Given the description of an element on the screen output the (x, y) to click on. 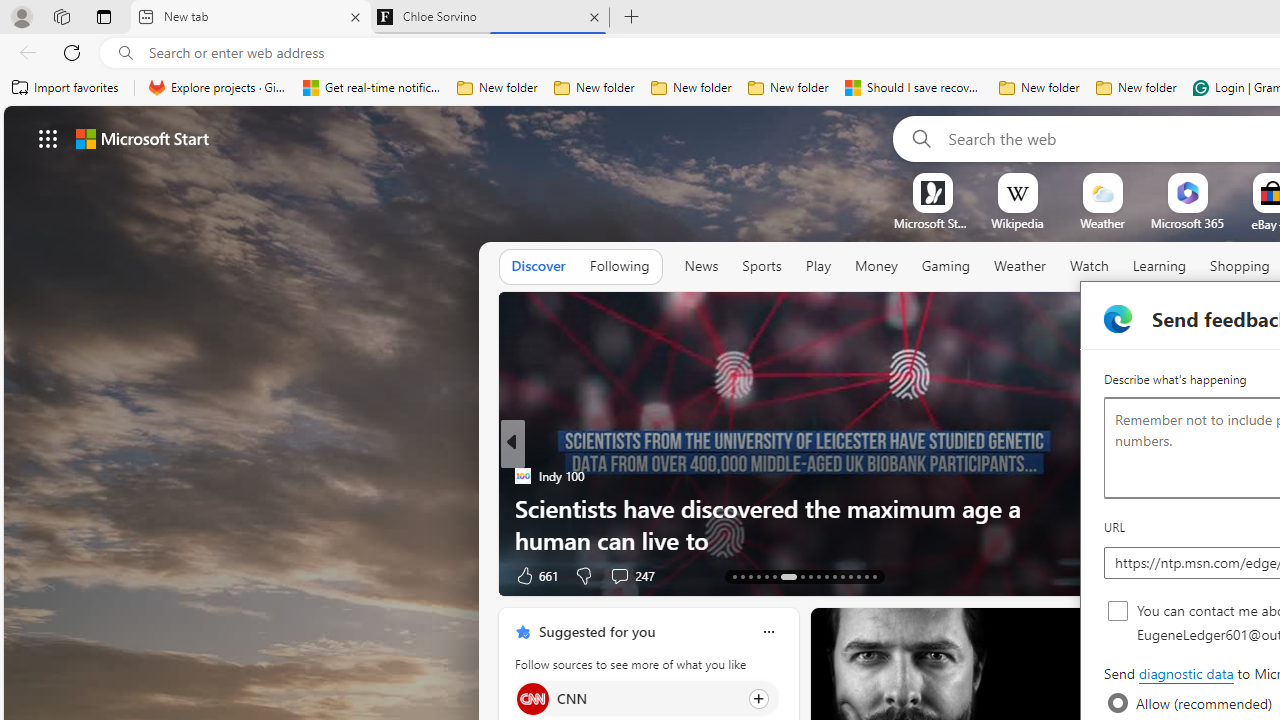
Weather (1020, 265)
Play (818, 267)
661 Like (535, 574)
New folder (1136, 88)
Wikipedia (1017, 223)
